Given the description of an element on the screen output the (x, y) to click on. 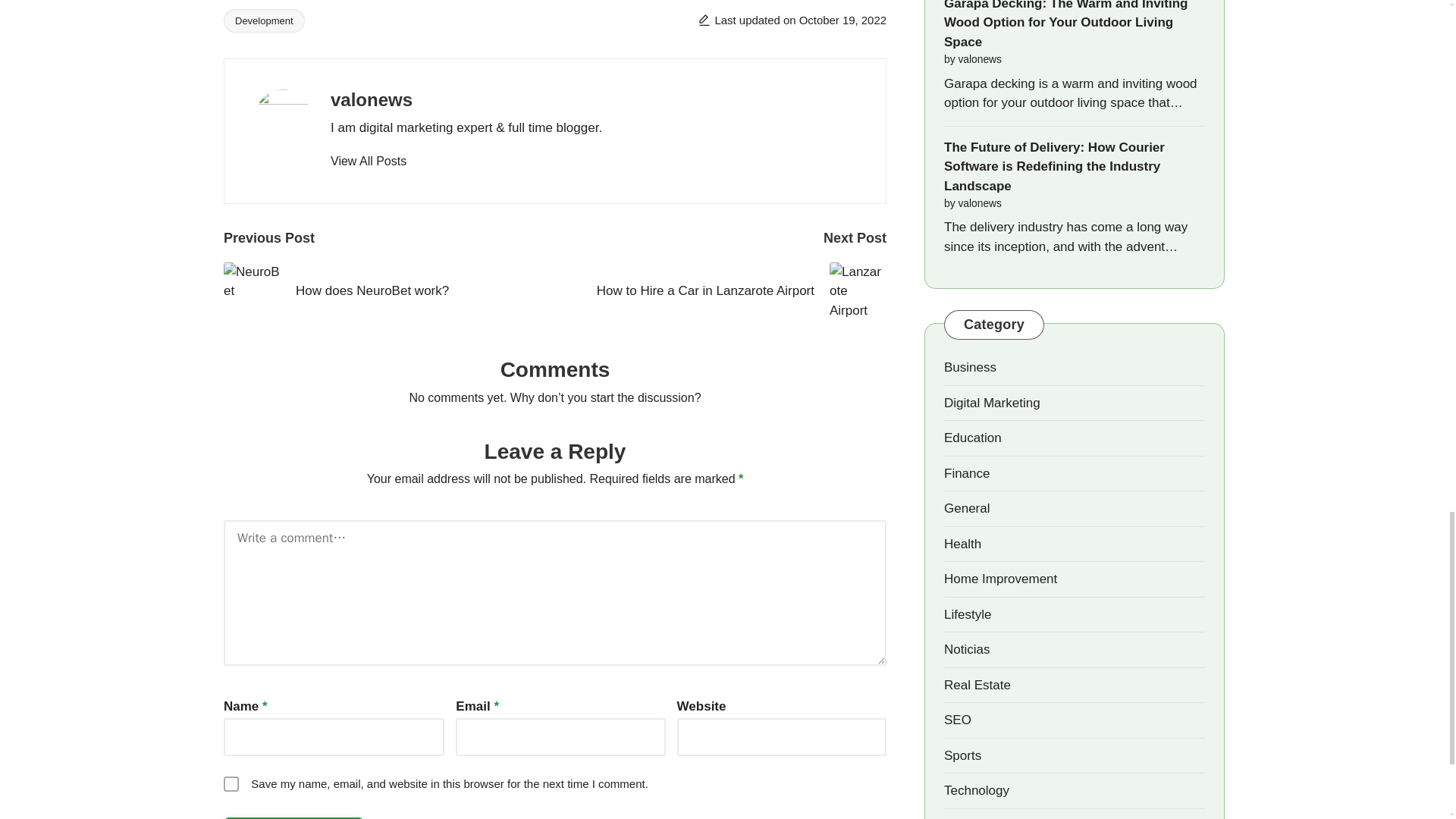
Development (264, 20)
How to Hire a Car in Lanzarote Airport (720, 290)
How does NeuroBet work? (389, 290)
yes (231, 783)
valonews (371, 99)
View All Posts (368, 161)
Post Comment (294, 818)
Post Comment (294, 818)
